Given the description of an element on the screen output the (x, y) to click on. 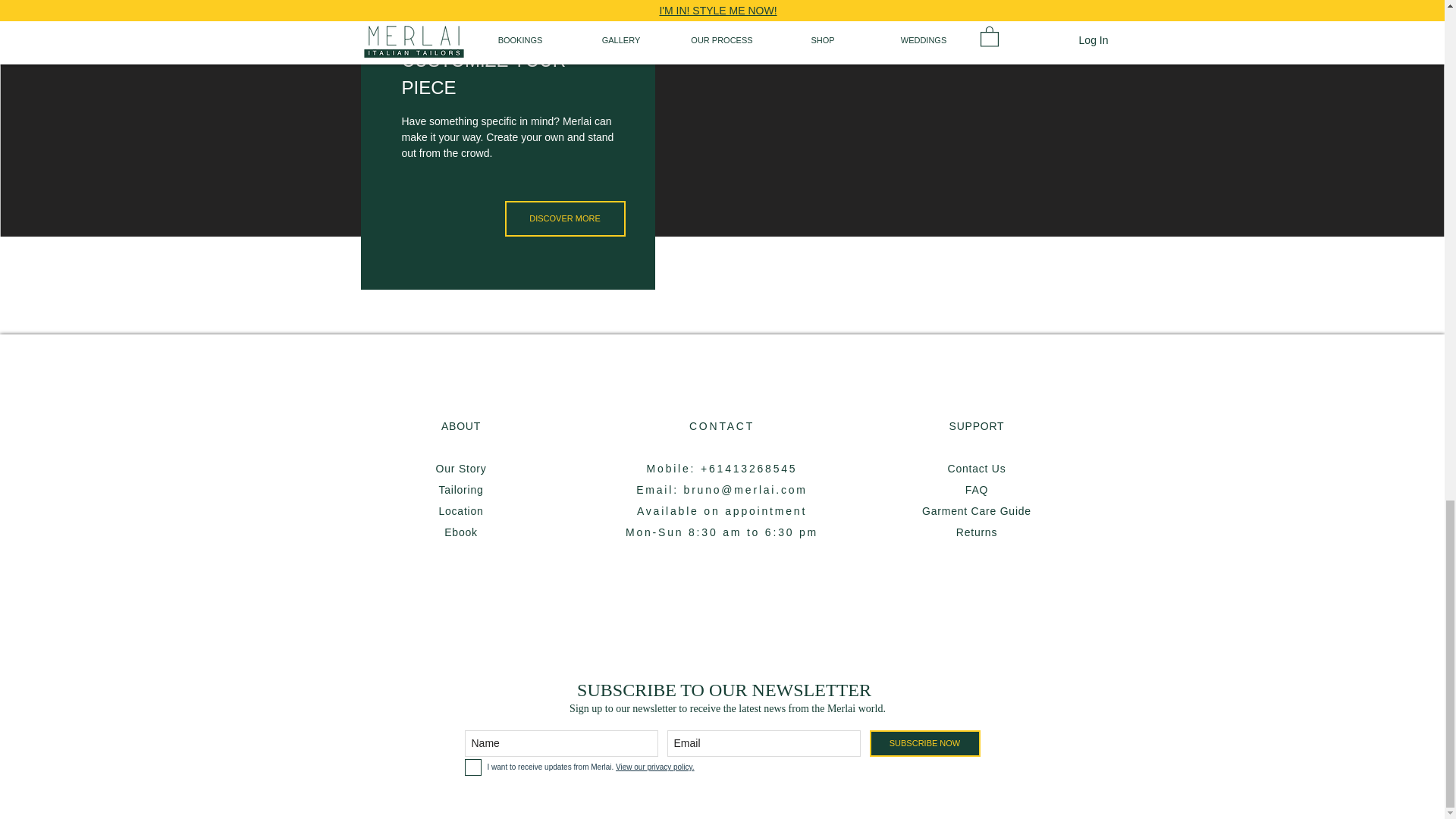
Our Story (460, 468)
Email:  (659, 490)
DISCOVER MORE (565, 218)
Ebook (460, 532)
Location (460, 510)
CONTACT (721, 426)
Tailoring (460, 490)
